Given the description of an element on the screen output the (x, y) to click on. 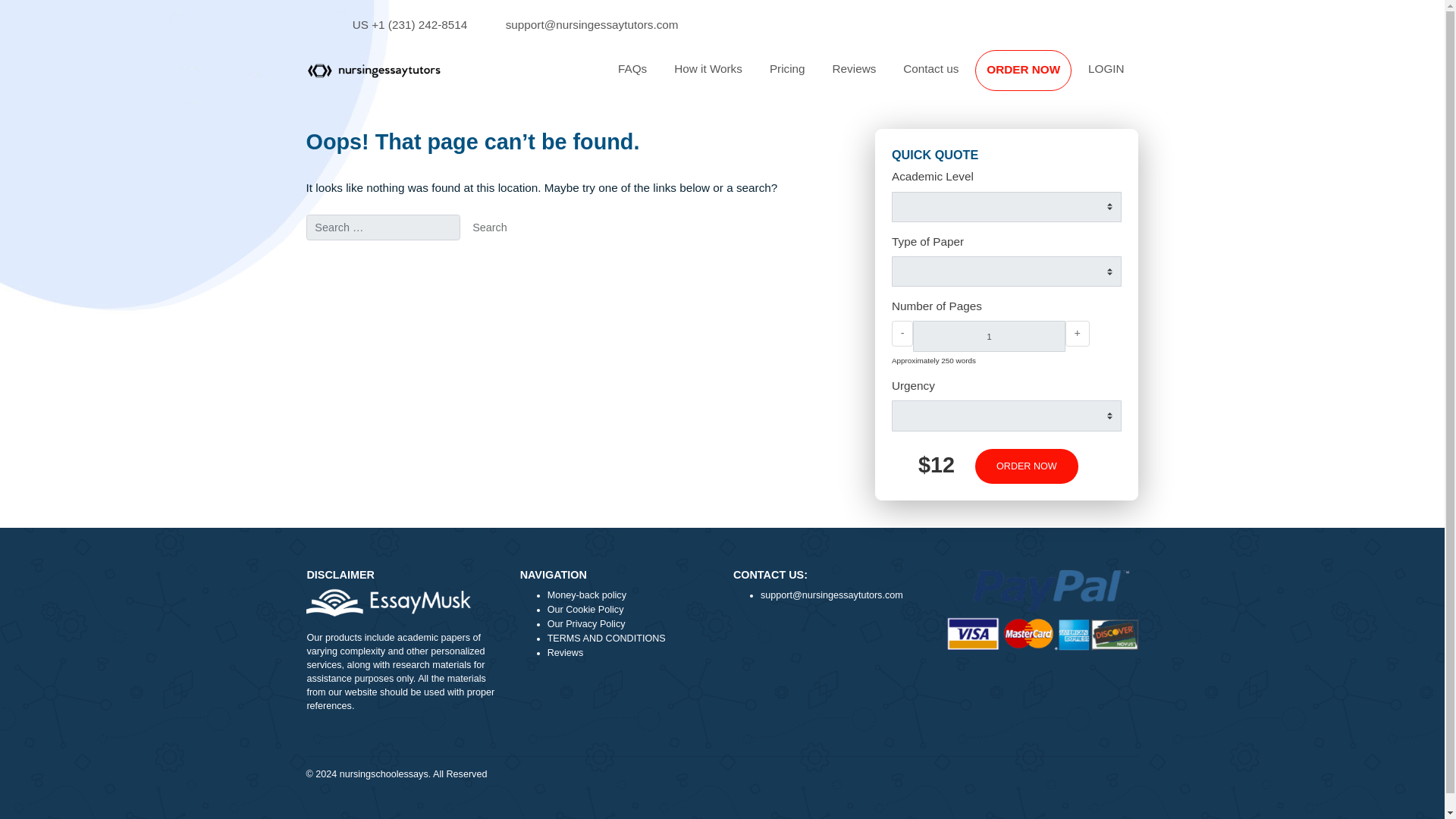
1 (1098, 373)
Pricing (875, 76)
How it Works (786, 76)
Search (544, 253)
Reviews (948, 76)
Pricing (875, 76)
Search (544, 253)
Contact us (1034, 76)
FAQs (702, 76)
LOGIN (1229, 76)
